Given the description of an element on the screen output the (x, y) to click on. 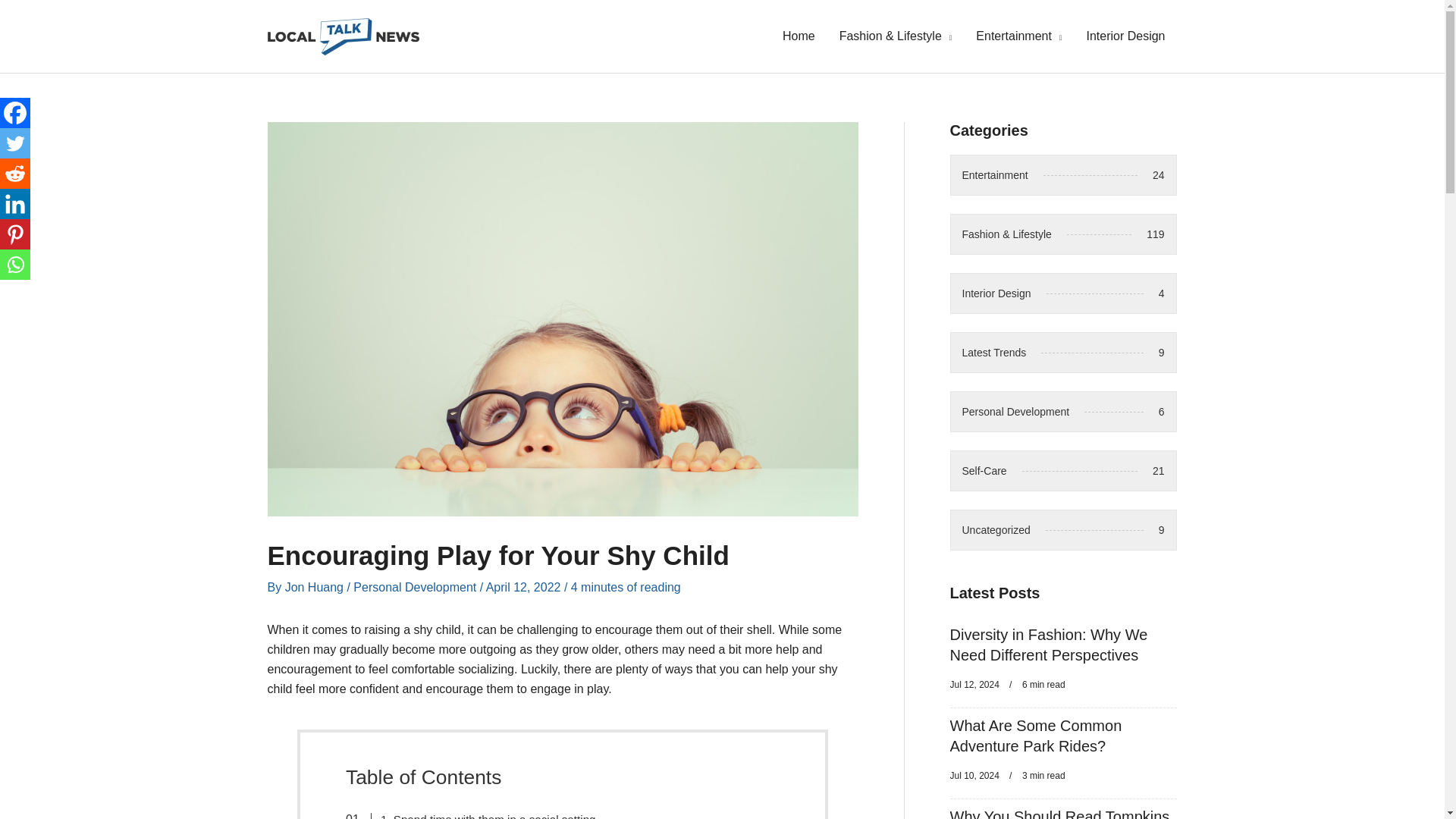
Entertainment (1018, 36)
Interior Design (1125, 36)
Whatsapp (15, 264)
Linkedin (15, 204)
Reddit (1062, 411)
Home (15, 173)
1. Spend time with them in a social setting. (798, 36)
Facebook (479, 812)
Jon Huang (15, 112)
View all posts by Jon Huang (316, 586)
Twitter (316, 586)
Personal Development (1062, 352)
